Given the description of an element on the screen output the (x, y) to click on. 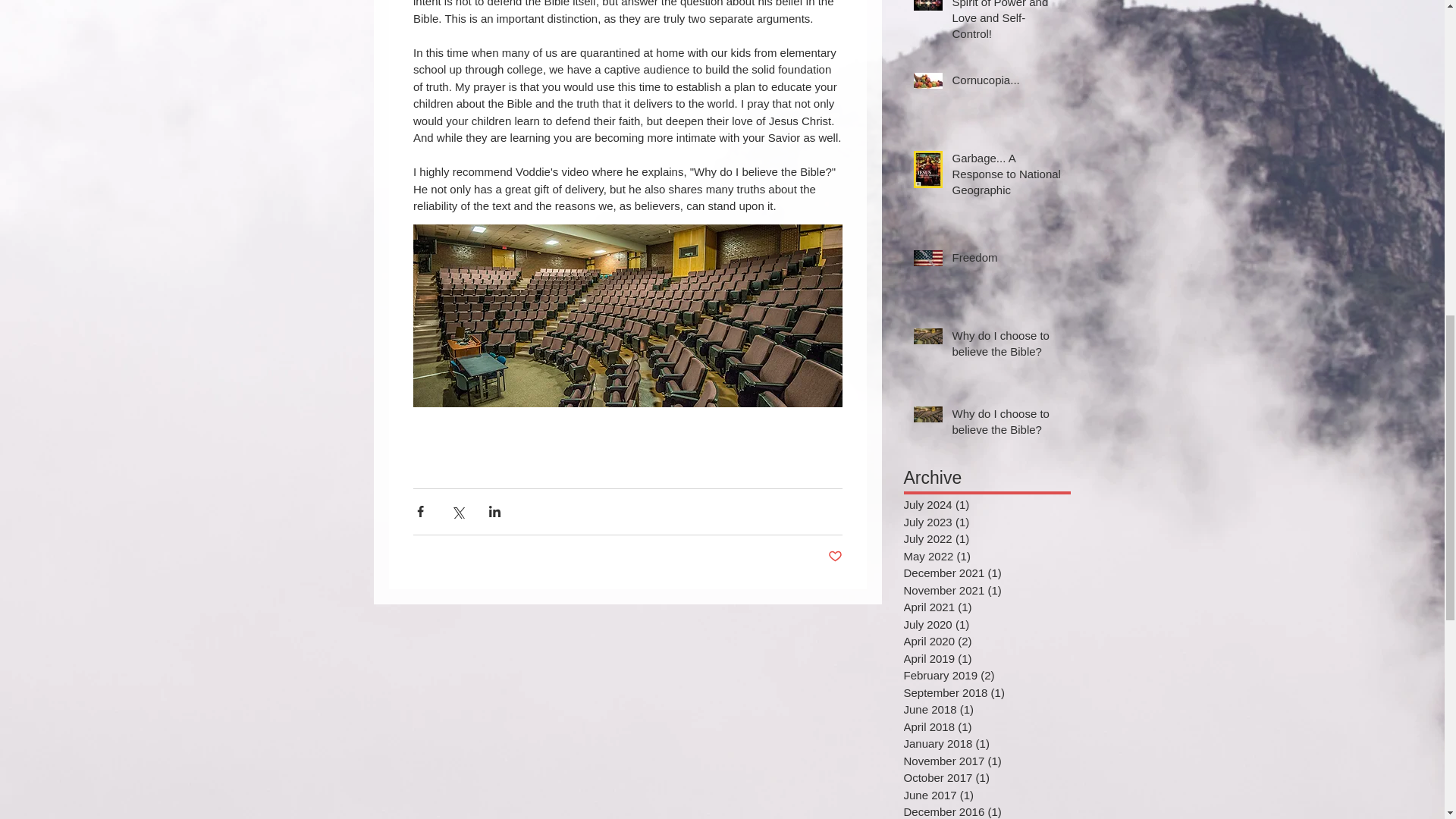
Spirit of Power and Love and Self-Control! (1006, 23)
Post not marked as liked (835, 556)
Cornucopia... (1006, 83)
Garbage... A Response to National Geographic (1006, 176)
Why do I choose to believe the Bible? (1006, 424)
Why do I choose to believe the Bible? (1006, 346)
Freedom (1006, 260)
